Given the description of an element on the screen output the (x, y) to click on. 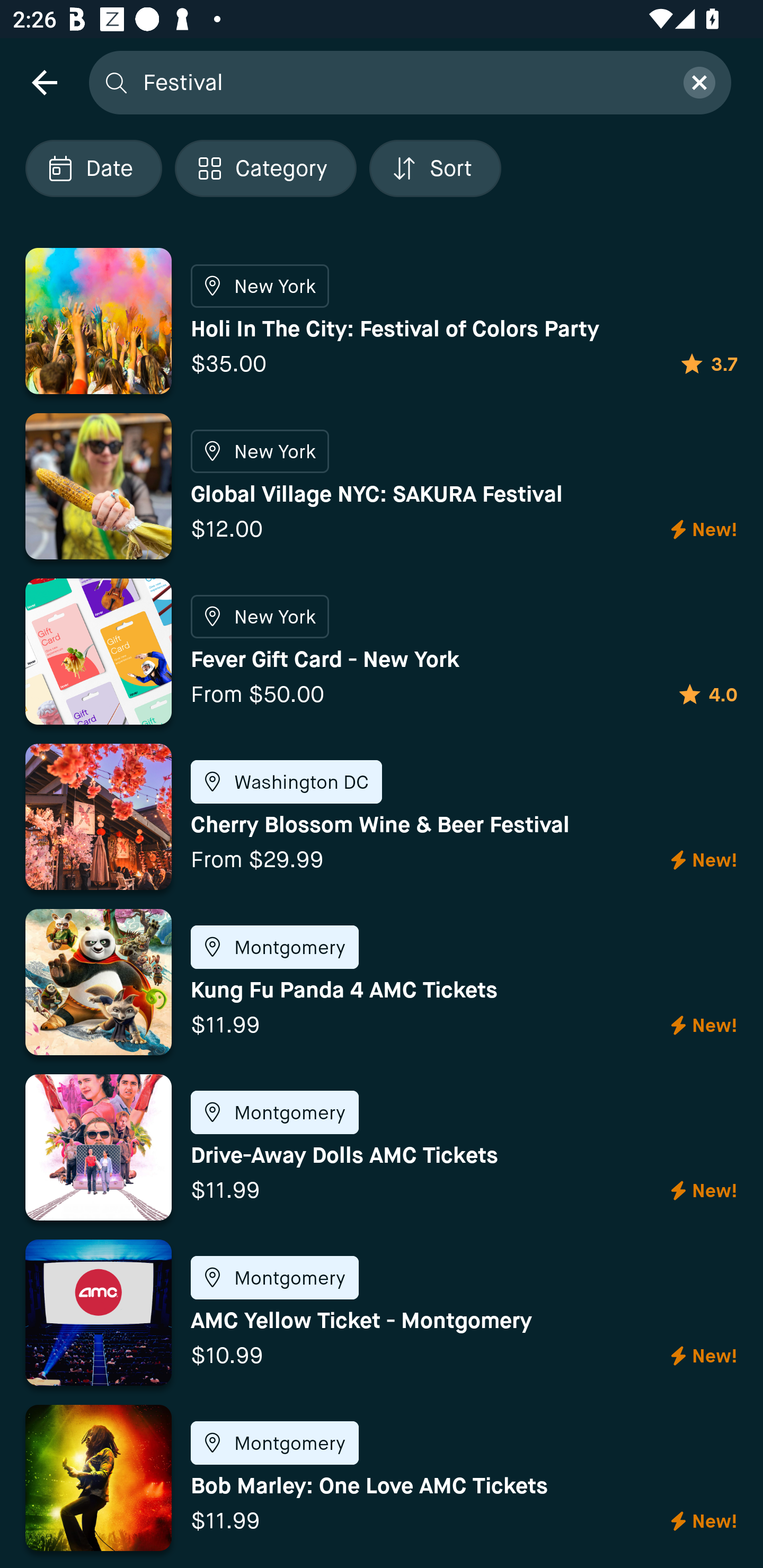
navigation icon (44, 81)
Festival (402, 81)
Localized description Date (93, 168)
Localized description Category (265, 168)
Localized description Sort (435, 168)
